Given the description of an element on the screen output the (x, y) to click on. 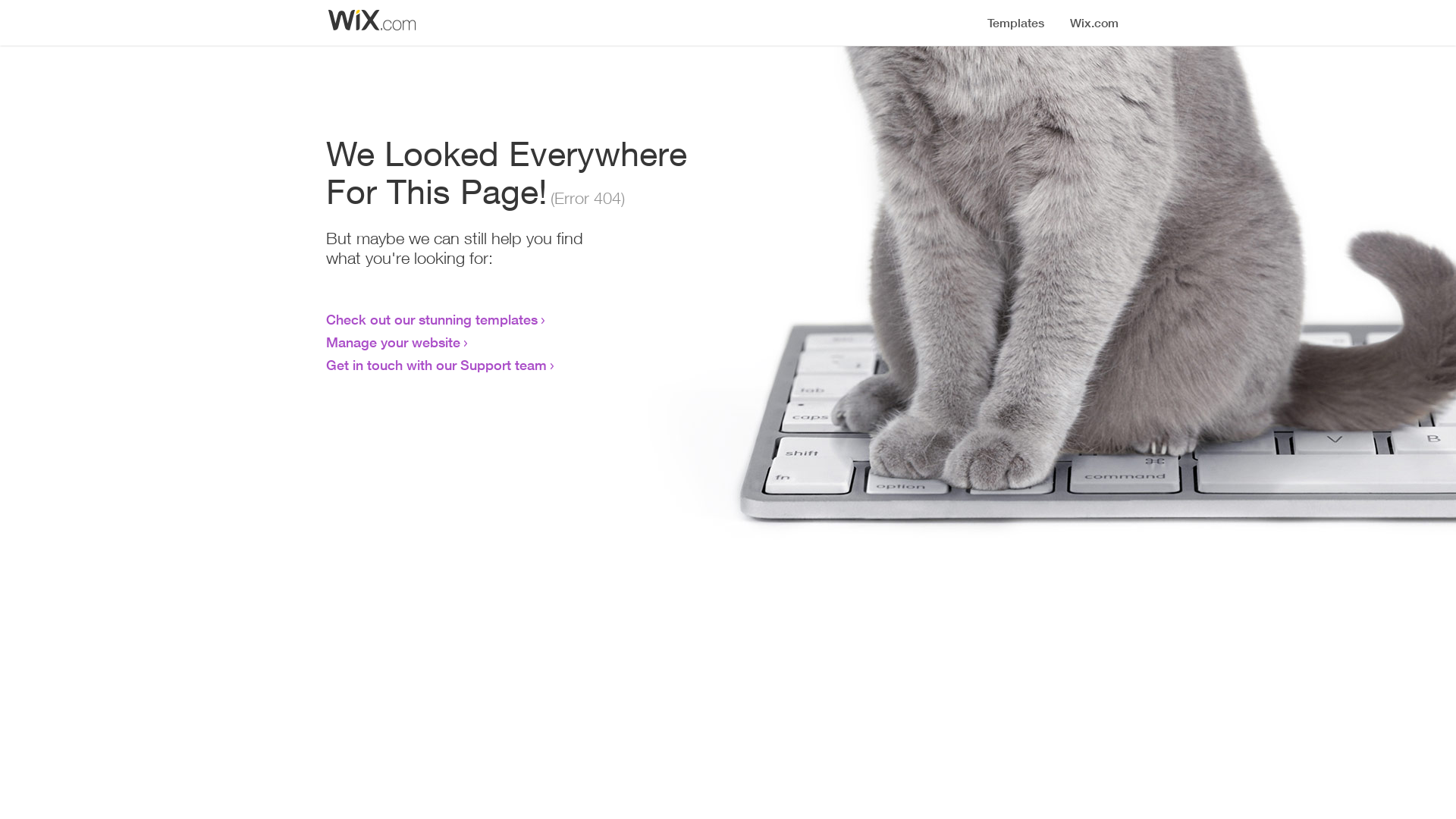
Check out our stunning templates Element type: text (431, 318)
Get in touch with our Support team Element type: text (436, 364)
Manage your website Element type: text (393, 341)
